Given the description of an element on the screen output the (x, y) to click on. 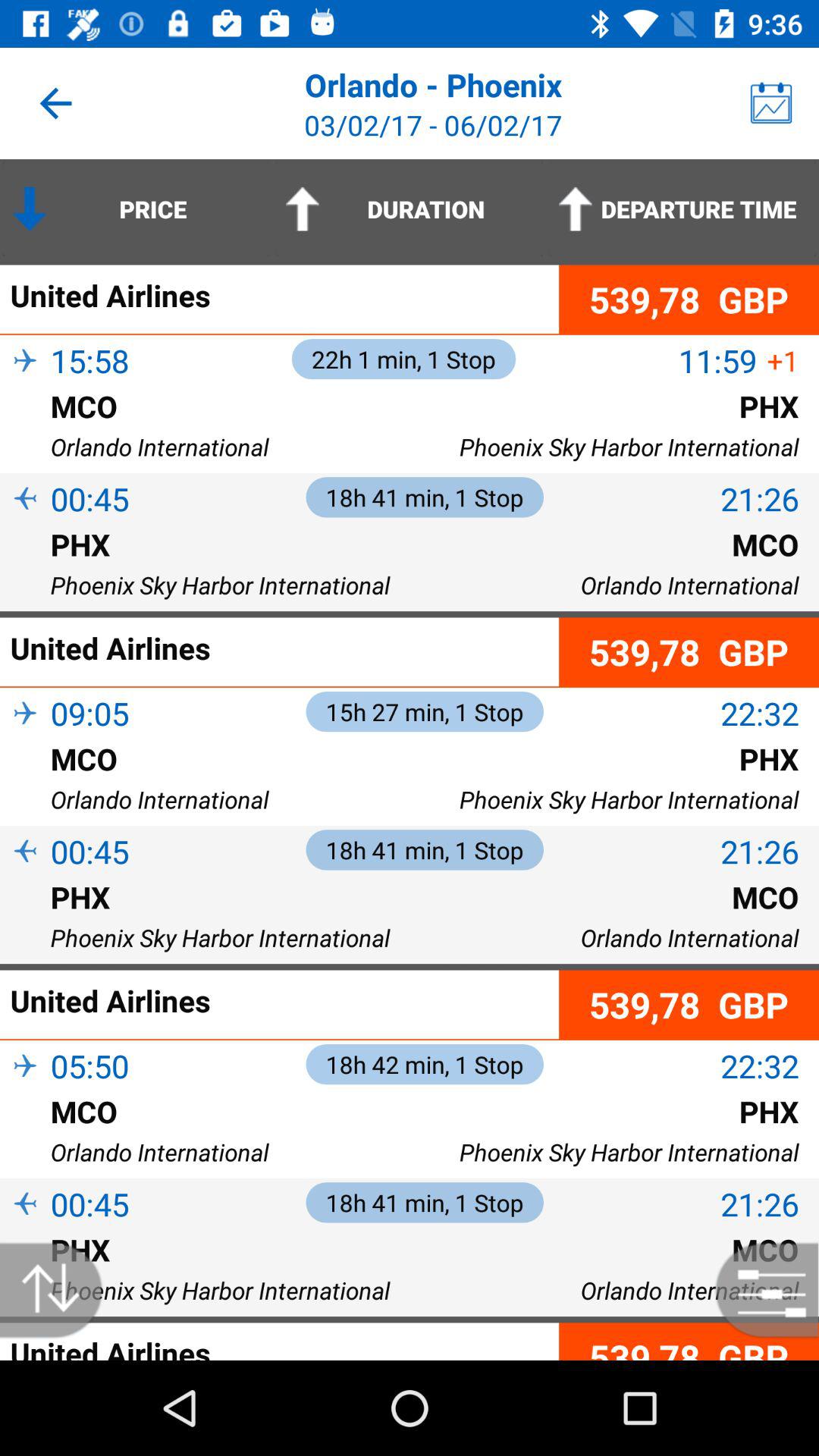
launch item next to 15:58 item (25, 386)
